Given the description of an element on the screen output the (x, y) to click on. 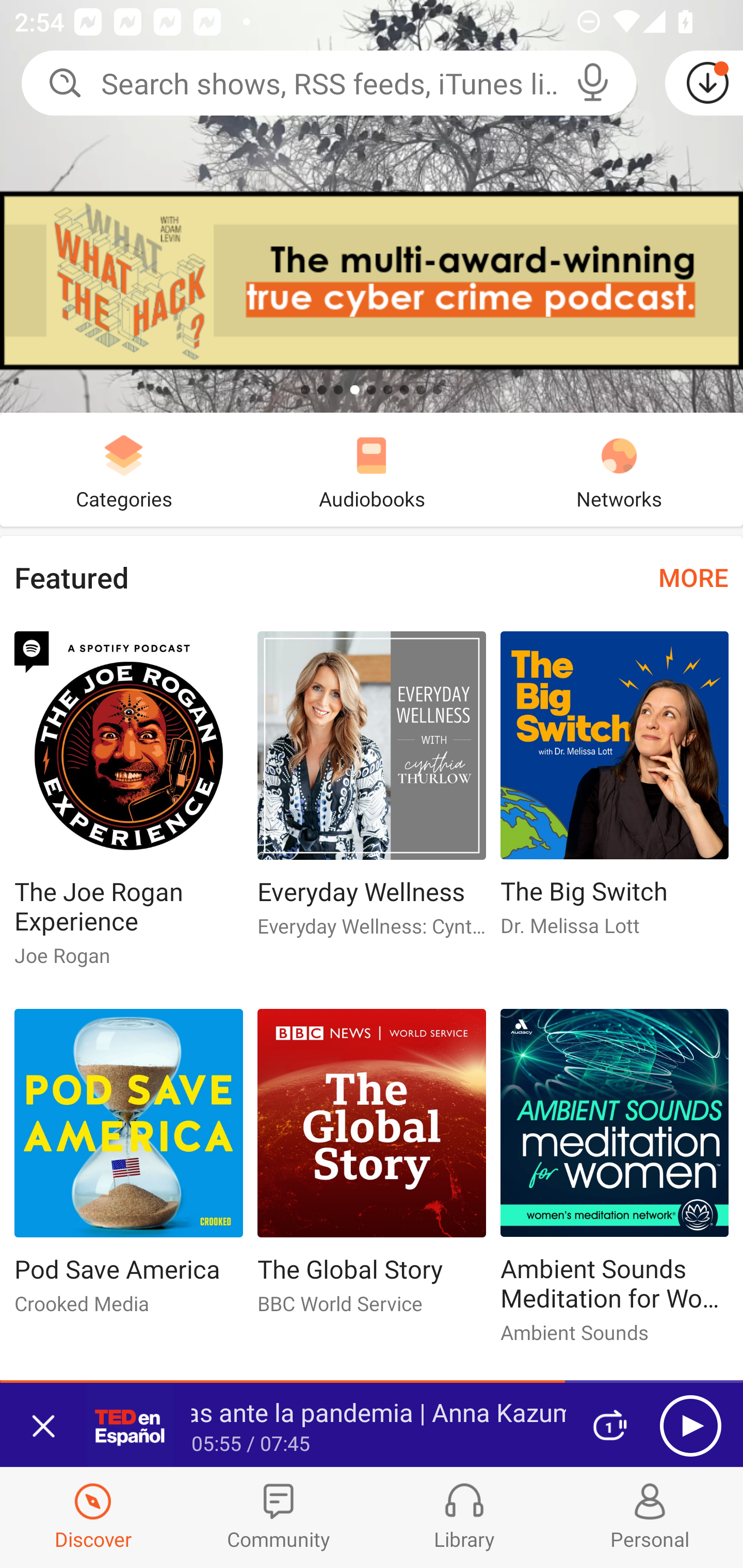
Categories (123, 469)
Audiobooks (371, 469)
Networks (619, 469)
MORE (693, 576)
The Big Switch The Big Switch Dr. Melissa Lott (614, 792)
Pod Save America Pod Save America Crooked Media (128, 1169)
Play (690, 1425)
Discover (92, 1517)
Community (278, 1517)
Library (464, 1517)
Profiles and Settings Personal (650, 1517)
